Given the description of an element on the screen output the (x, y) to click on. 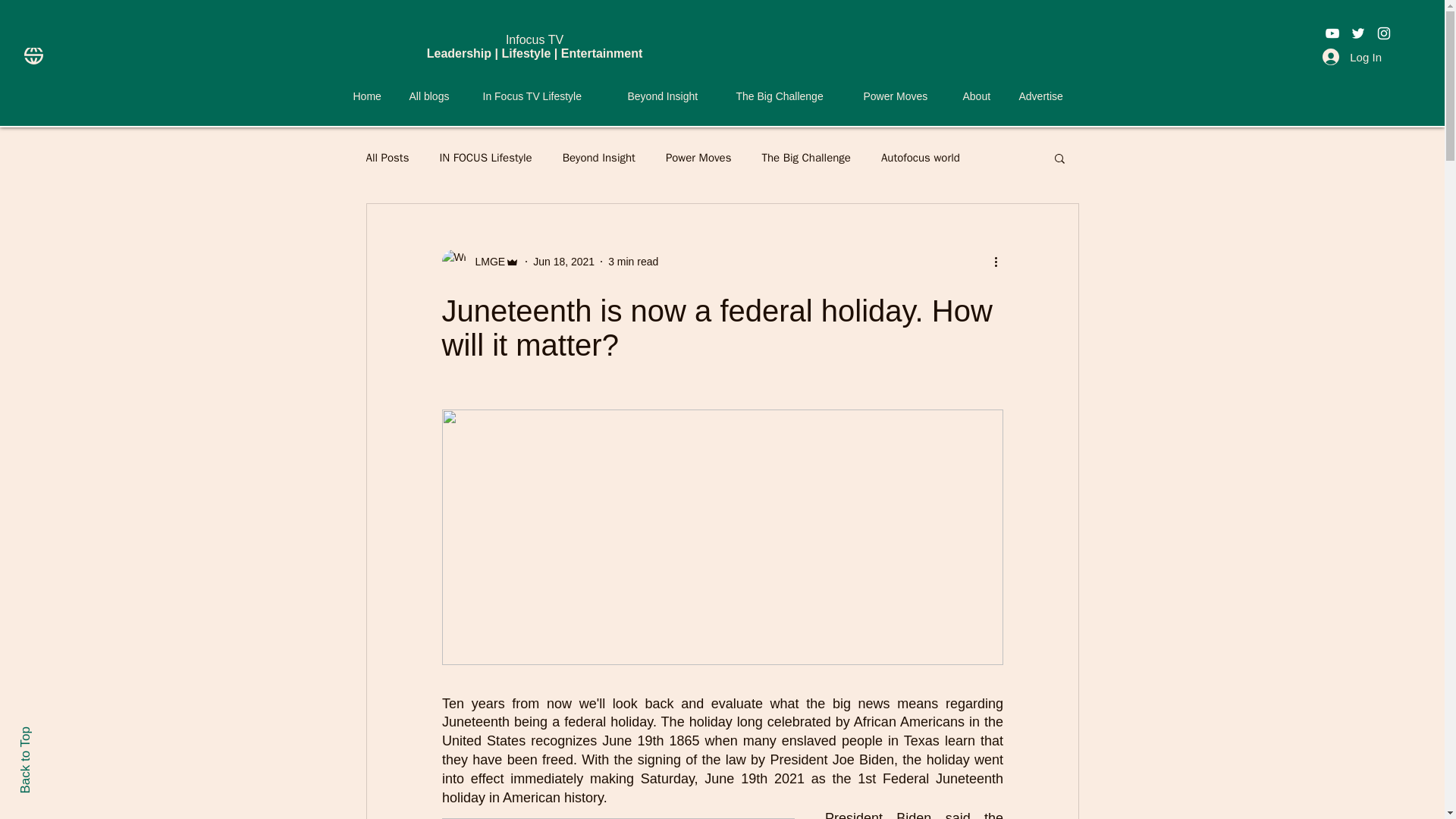
About (978, 96)
Beyond Insight (669, 96)
IN FOCUS Lifestyle (485, 156)
3 min read (633, 260)
Beyond Insight (598, 156)
Lifestyle (525, 52)
In Focus TV Lifestyle (543, 96)
Log In (1351, 56)
All blogs (433, 96)
All Posts (387, 156)
LMGE (480, 261)
Power Moves (698, 156)
LMGE  (485, 261)
Power Moves (901, 96)
Autofocus world (919, 156)
